Given the description of an element on the screen output the (x, y) to click on. 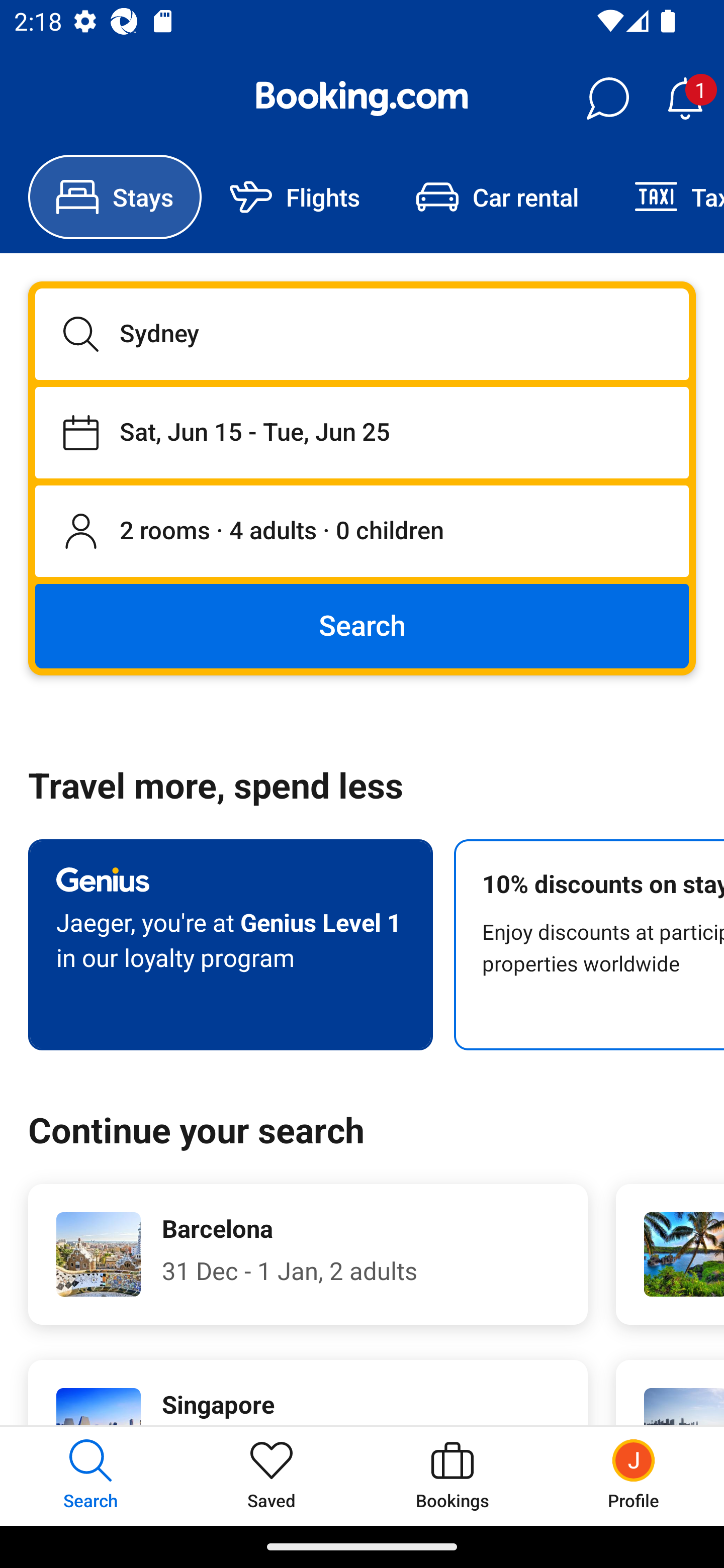
Messages (607, 98)
Notifications (685, 98)
Stays (114, 197)
Flights (294, 197)
Car rental (497, 197)
Taxi (665, 197)
Sydney (361, 333)
Staying from Sat, Jun 15 until Tue, Jun 25 (361, 432)
2 rooms, 4 adults, 0 children (361, 531)
Search (361, 625)
Barcelona 31 Dec - 1 Jan, 2 adults (307, 1253)
Saved (271, 1475)
Bookings (452, 1475)
Profile (633, 1475)
